Given the description of an element on the screen output the (x, y) to click on. 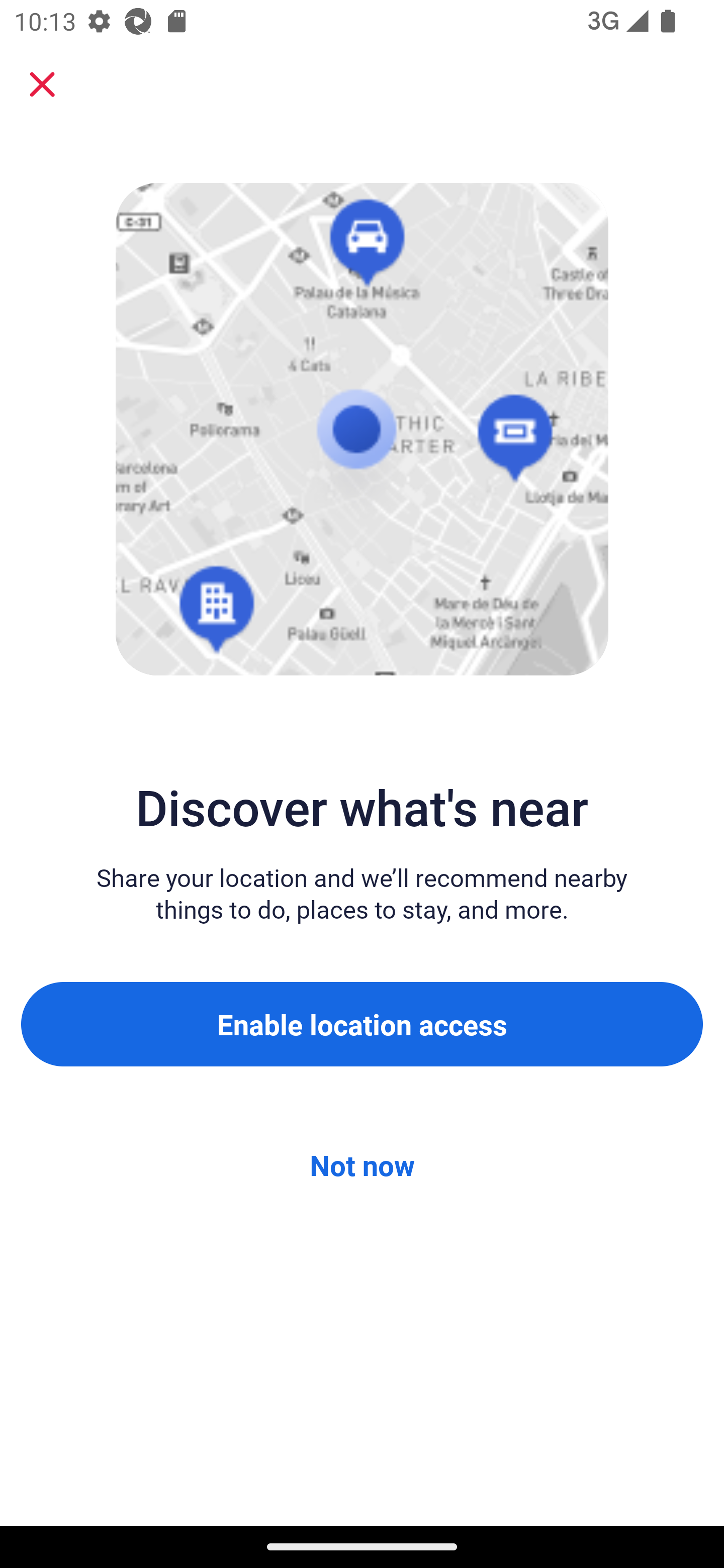
Close sheet (42, 84)
Enable location access (361, 1023)
Not now (362, 1164)
